Given the description of an element on the screen output the (x, y) to click on. 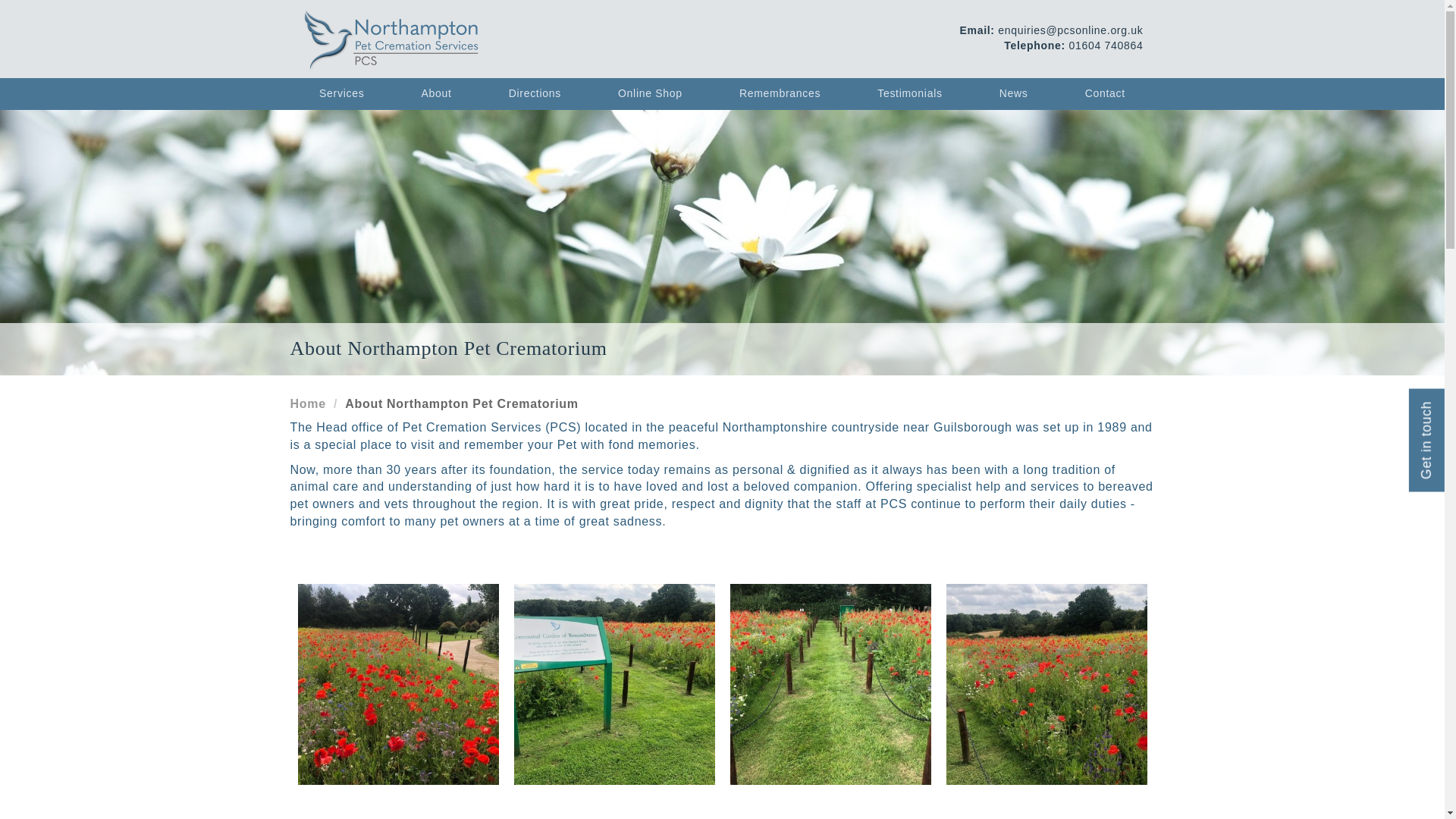
About Northampton Pet Crematorium (461, 403)
Online Shop (649, 93)
Testimonials (909, 93)
Services (342, 93)
News (1014, 93)
Home (306, 403)
PCS Northampton Pet Crematorium (389, 38)
Remembrances (779, 93)
Get in touch (1327, 368)
Contact (1105, 93)
About (436, 93)
Home (306, 403)
01604 740864 (1105, 45)
About Northampton Pet Crematorium (461, 403)
Directions (534, 93)
